Given the description of an element on the screen output the (x, y) to click on. 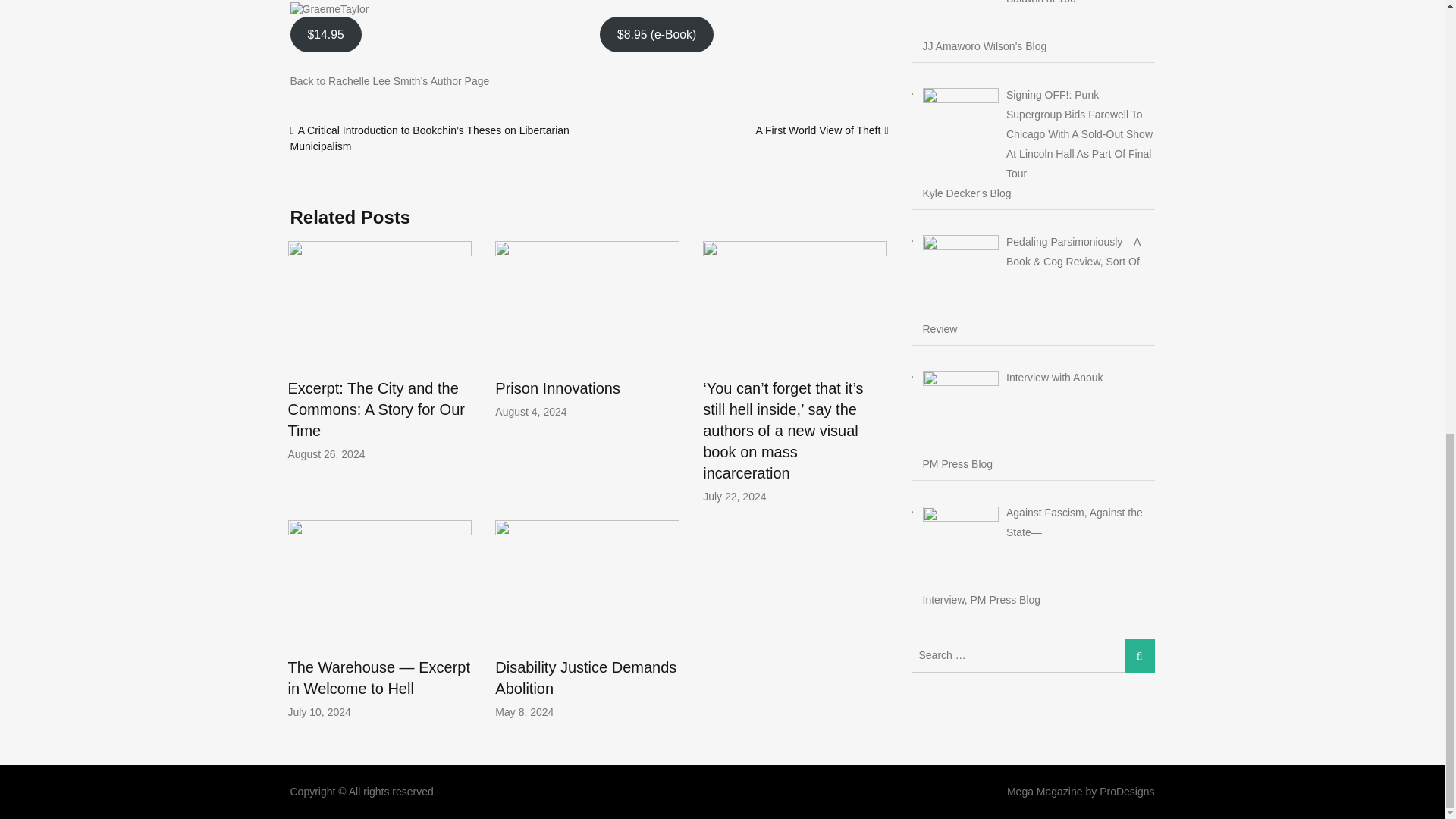
Disability Justice Demands Abolition (586, 677)
Prison Innovations (557, 388)
Excerpt: The City and the Commons: A Story for Our Time (376, 409)
A First World View of Theft (817, 130)
